Given the description of an element on the screen output the (x, y) to click on. 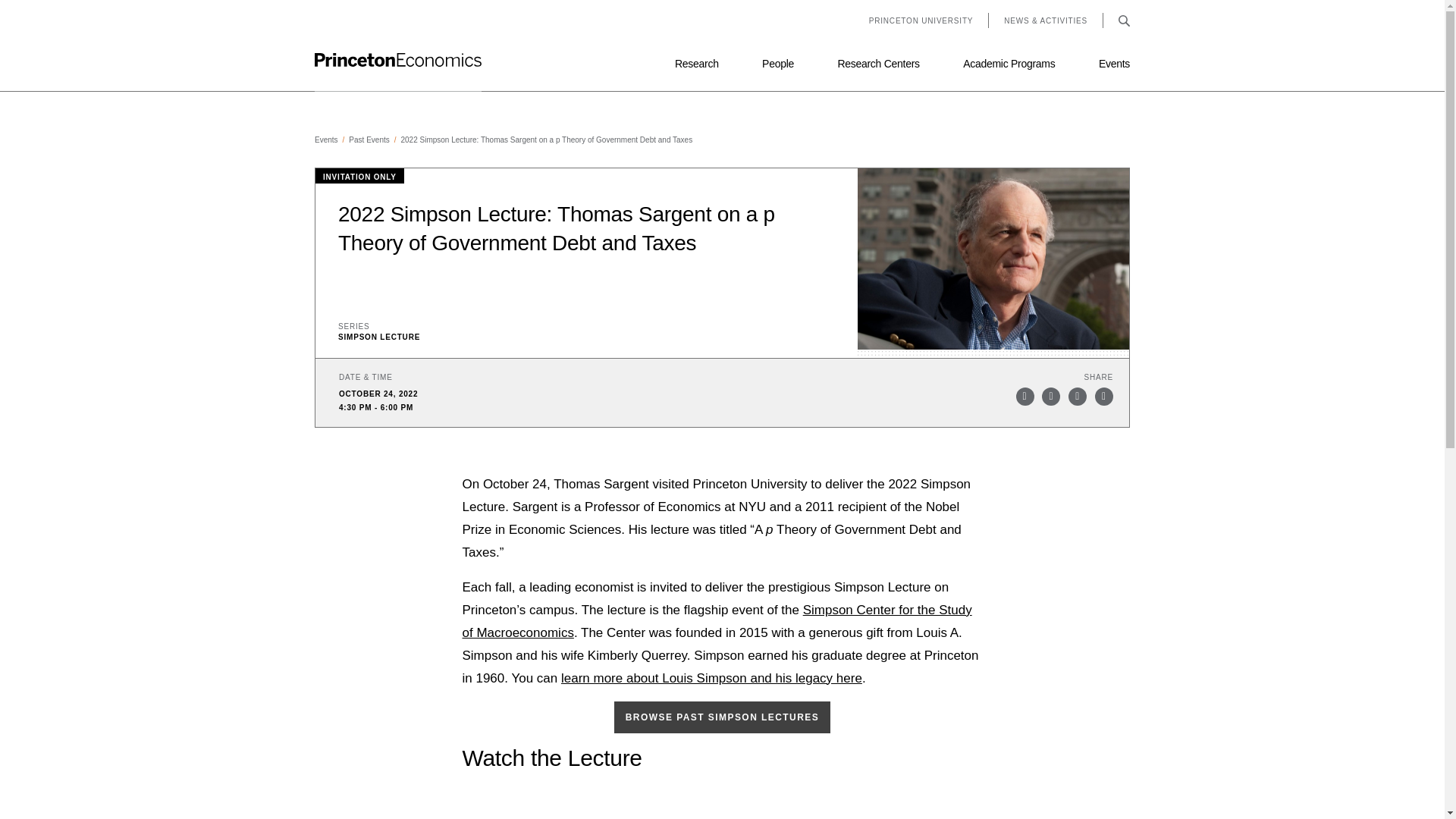
Graduate Student Directory (1016, 46)
learn more about Louis Simpson and his legacy here (710, 677)
Research (697, 72)
Independent Work (432, 20)
SHARE ON TWITTER (1024, 396)
YouTube video player (722, 806)
Home (397, 60)
BROWSE PAST SIMPSON LECTURES (721, 717)
PRINCETON UNIVERSITY (921, 20)
Past Events (374, 139)
Course Offerings (1016, 2)
Study Abroad and Internship Milestone Credit (733, 2)
Events (331, 139)
SHARE ON FACEBOOK (1050, 396)
